Given the description of an element on the screen output the (x, y) to click on. 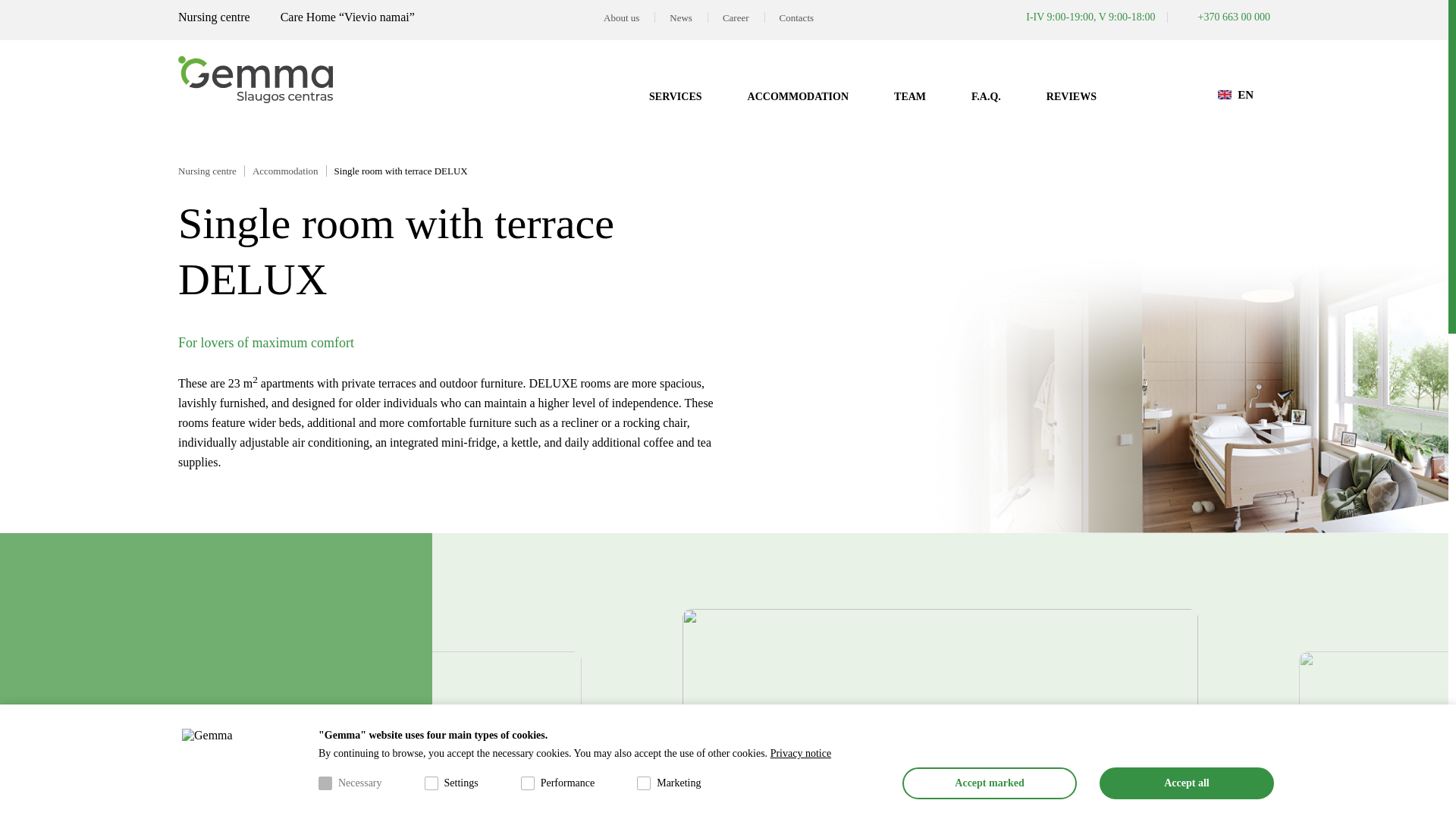
Accept all (1186, 783)
Privacy notice (800, 753)
F.A.Q. (986, 96)
Services (675, 96)
About us (620, 17)
Contacts (796, 17)
ACCOMMODATION (798, 96)
Accept marked (989, 783)
Reviews (1071, 96)
News (680, 17)
Single room with terrace DELUX (405, 170)
Team (909, 96)
About us (620, 17)
EN (1235, 93)
News (680, 17)
